Given the description of an element on the screen output the (x, y) to click on. 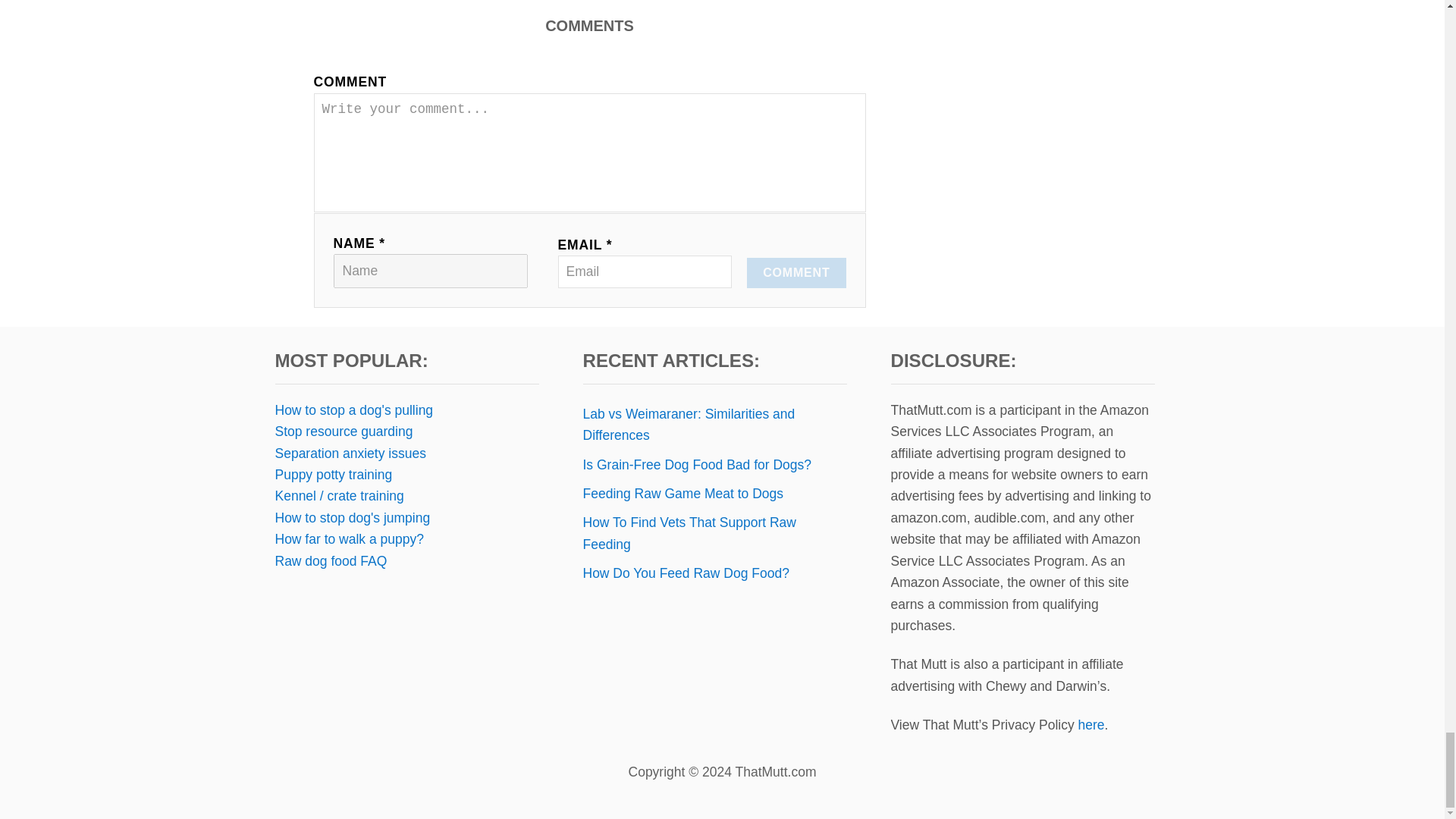
COMMENT (795, 272)
Lab vs Weimaraner: Similarities and Differences (713, 424)
How to stop dog's jumping (352, 517)
Stop resource guarding (343, 431)
Separation anxiety issues (350, 453)
How far to walk a puppy? (349, 539)
Puppy potty training (333, 474)
Raw dog food FAQ (331, 560)
How to stop a dog's pulling (353, 409)
